Given the description of an element on the screen output the (x, y) to click on. 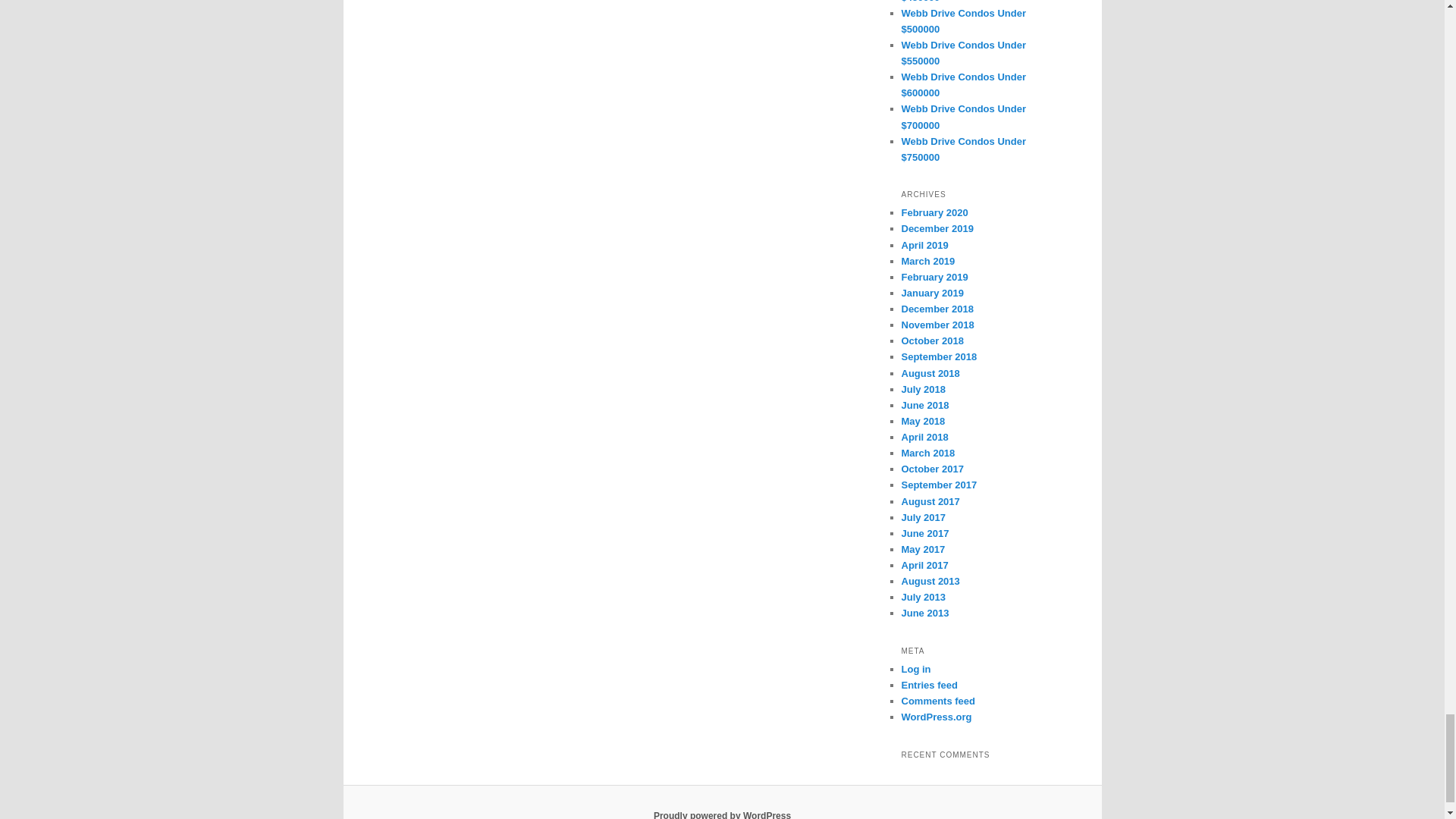
Semantic Personal Publishing Platform (721, 814)
